Given the description of an element on the screen output the (x, y) to click on. 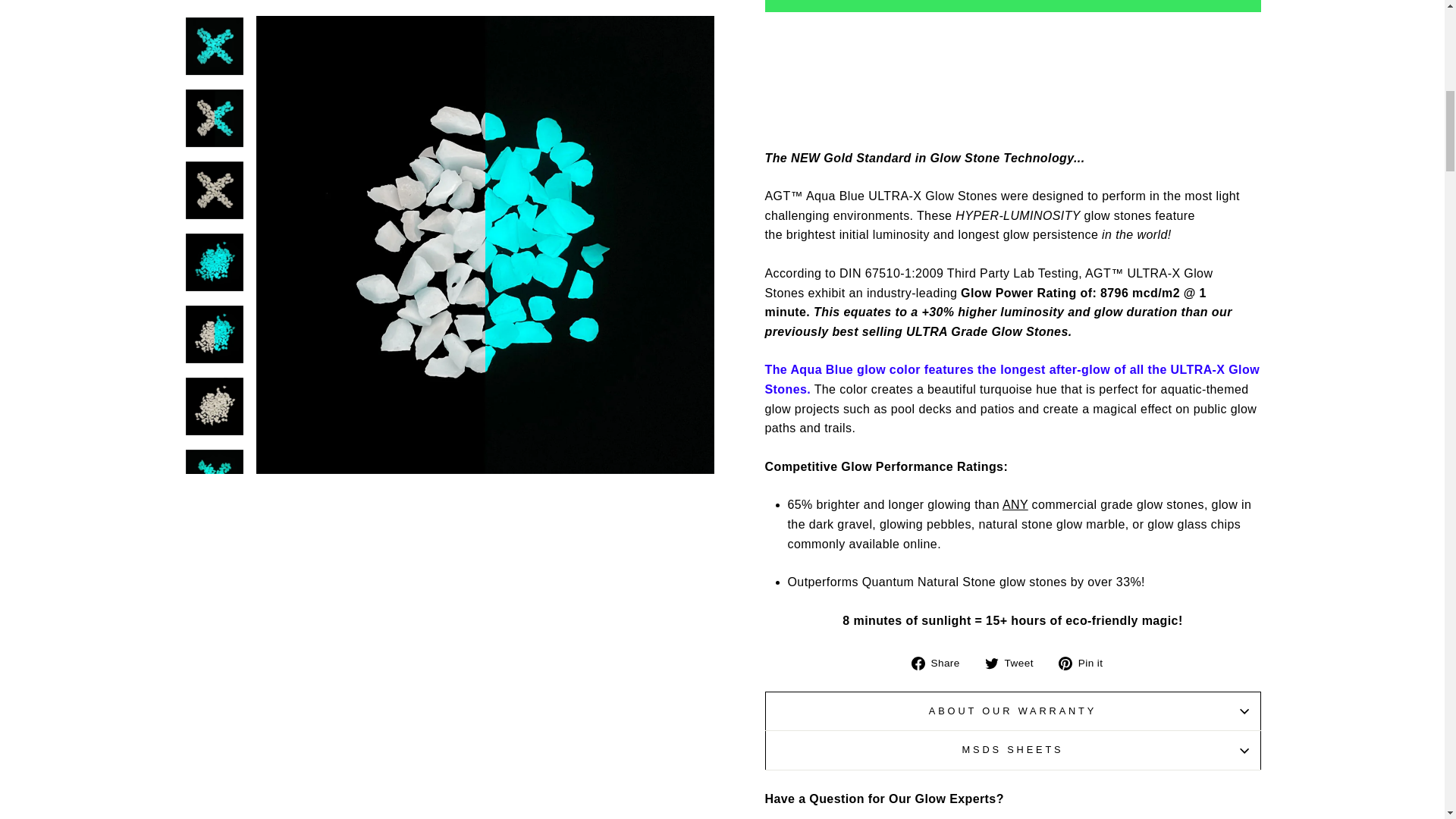
Pin on Pinterest (1085, 662)
Tweet on Twitter (1015, 662)
Share on Facebook (941, 662)
